Given the description of an element on the screen output the (x, y) to click on. 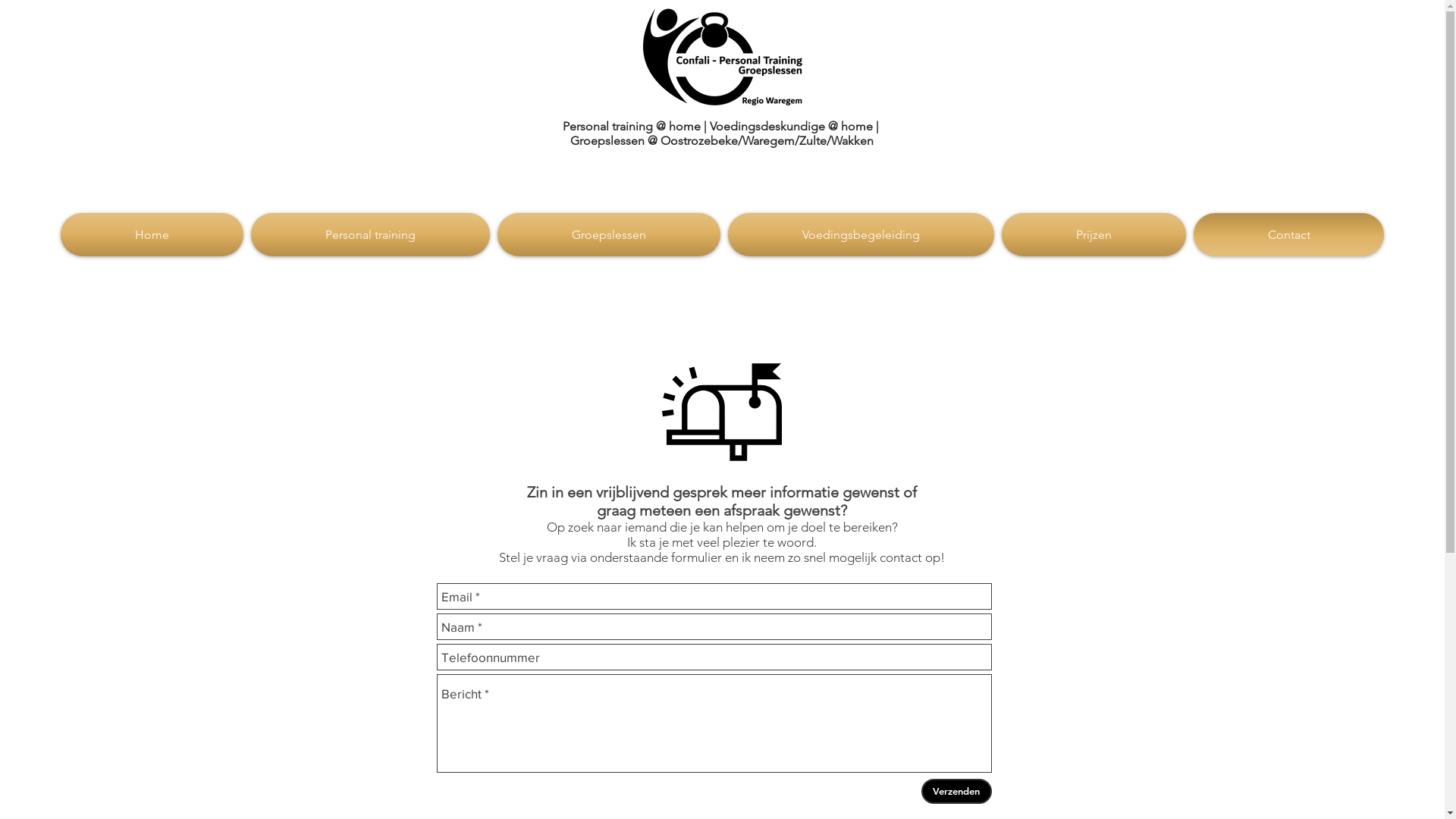
Voedingsbegeleiding Element type: text (860, 234)
Verzenden Element type: text (955, 790)
Prijzen Element type: text (1093, 234)
Personal training Element type: text (370, 234)
Contact Element type: text (1286, 234)
Groepslessen Element type: text (608, 234)
Home Element type: text (153, 234)
